Given the description of an element on the screen output the (x, y) to click on. 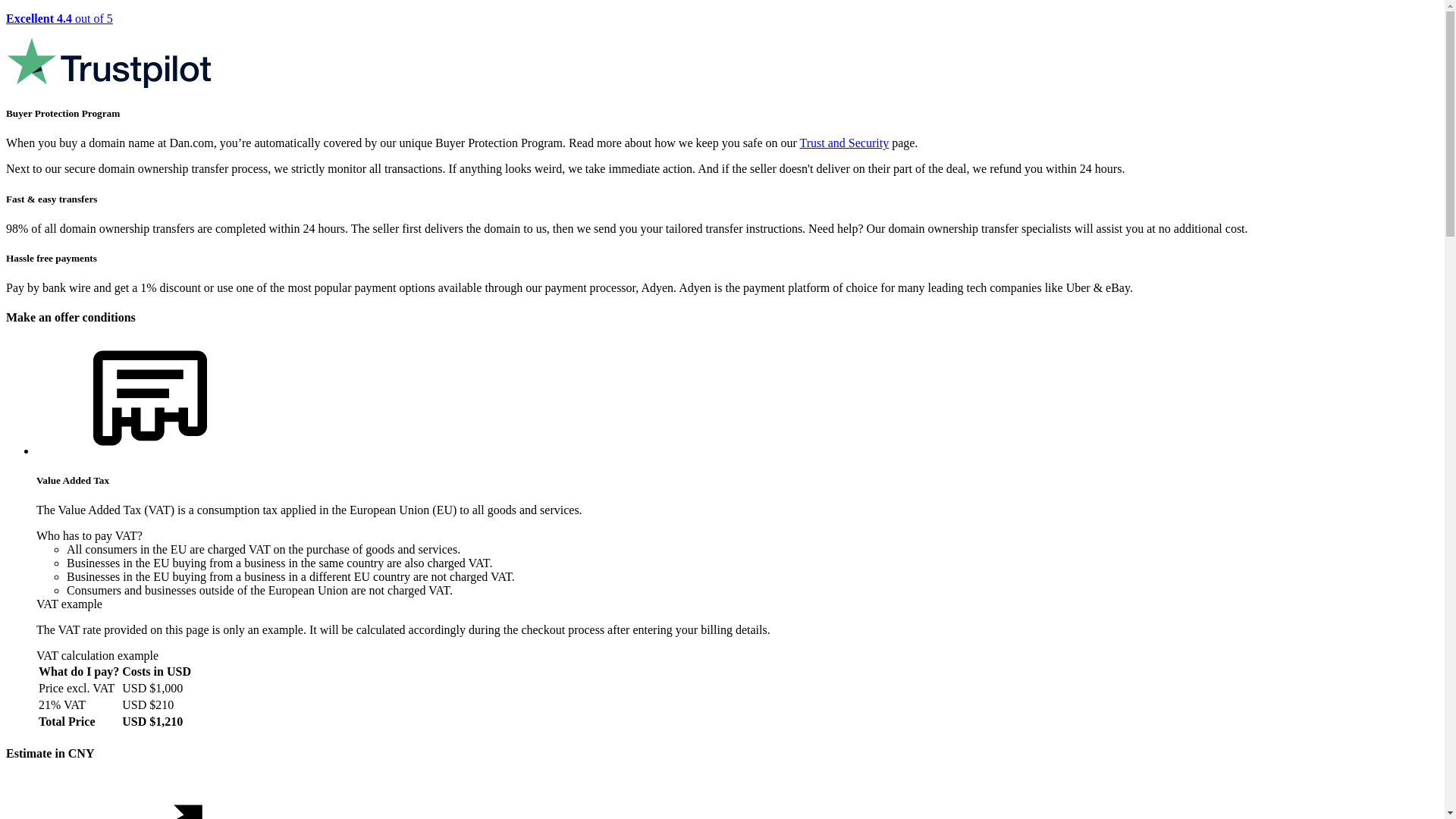
Trust and Security Element type: text (844, 142)
Excellent 4.4 out of 5 Element type: text (722, 51)
